Given the description of an element on the screen output the (x, y) to click on. 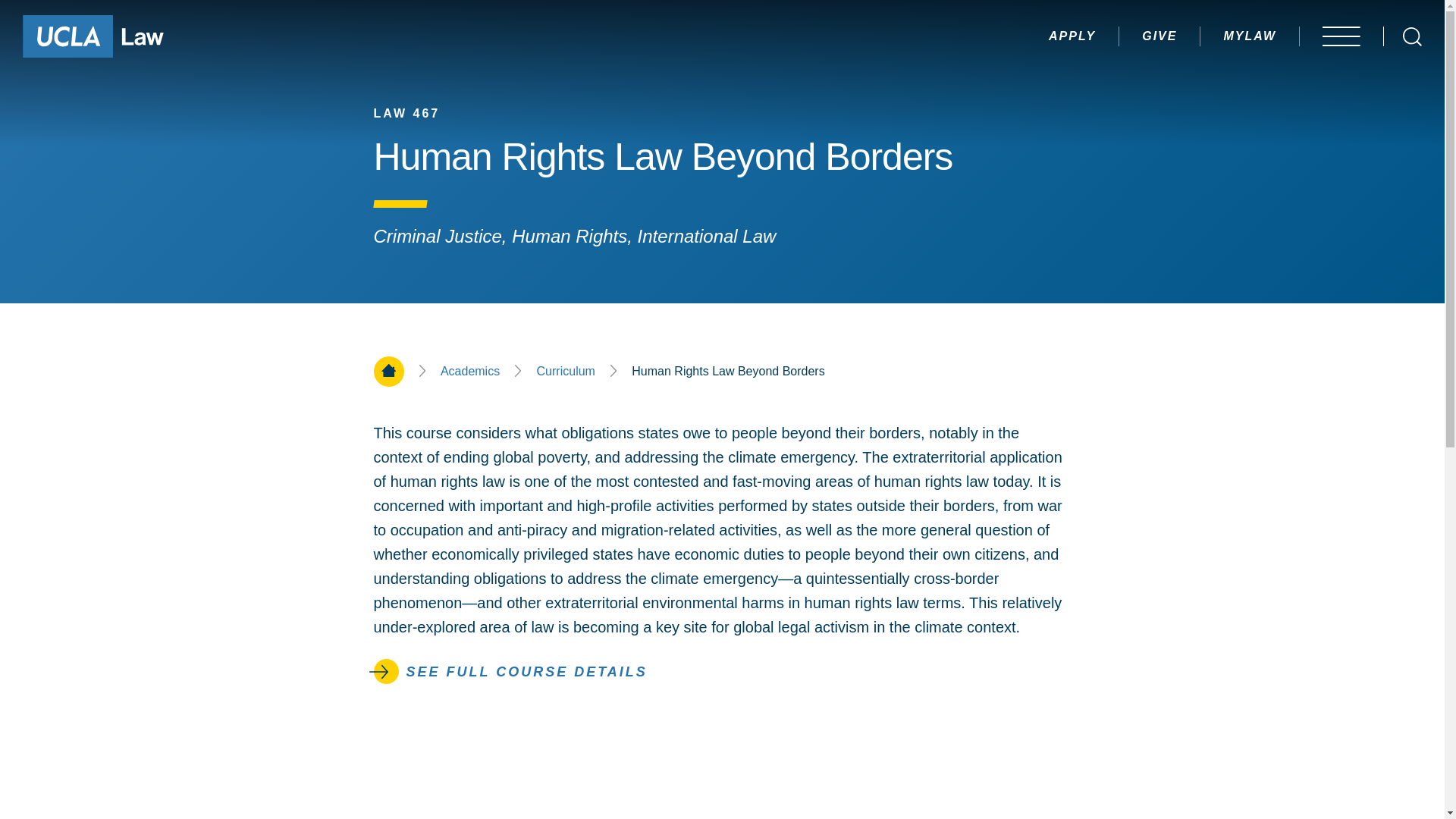
APPLY (1072, 35)
Jump to Header (725, 3)
Go to Home Page (93, 36)
MYLAW (1249, 35)
OPEN MENU (1353, 35)
GIVE (1158, 35)
Home Page (387, 371)
